Given the description of an element on the screen output the (x, y) to click on. 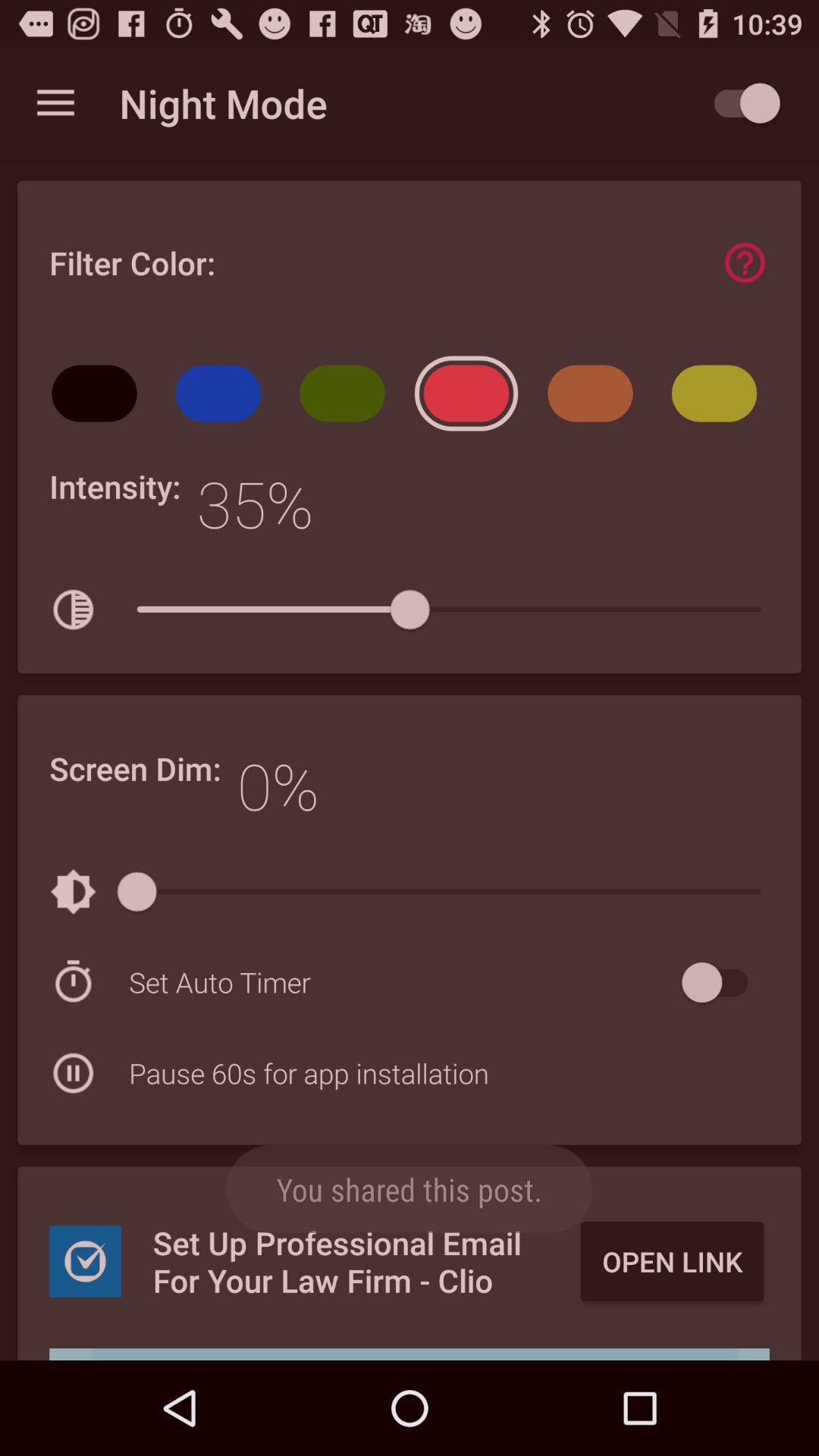
autoplay page (739, 103)
